Given the description of an element on the screen output the (x, y) to click on. 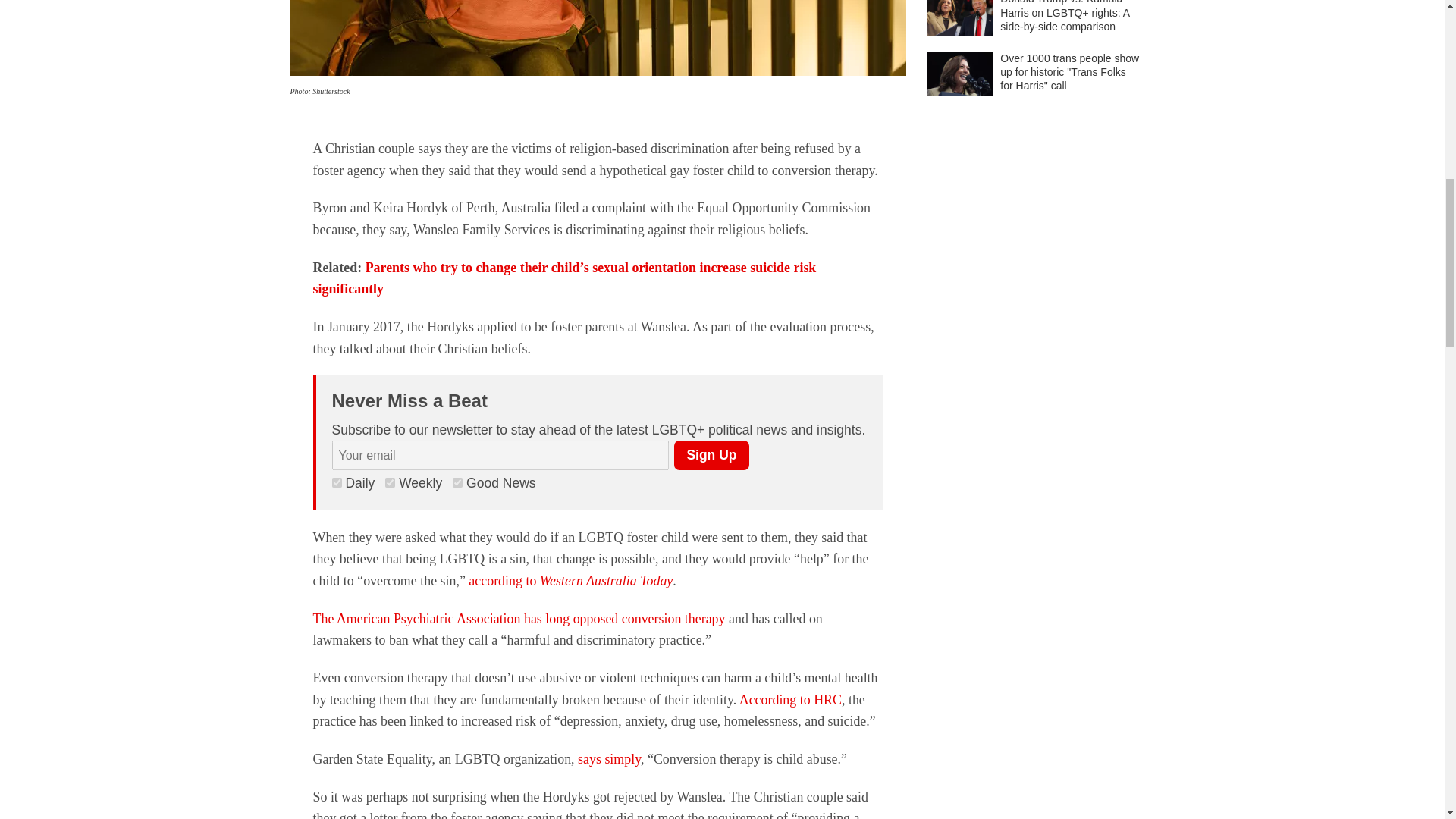
1920883 (457, 482)
Sign Up (711, 455)
1920885 (336, 482)
According to HRC (790, 699)
according to Western Australia Today (570, 580)
1920884 (389, 482)
gay-rainbow-backpack-troubled (597, 38)
says simply (609, 758)
